Given the description of an element on the screen output the (x, y) to click on. 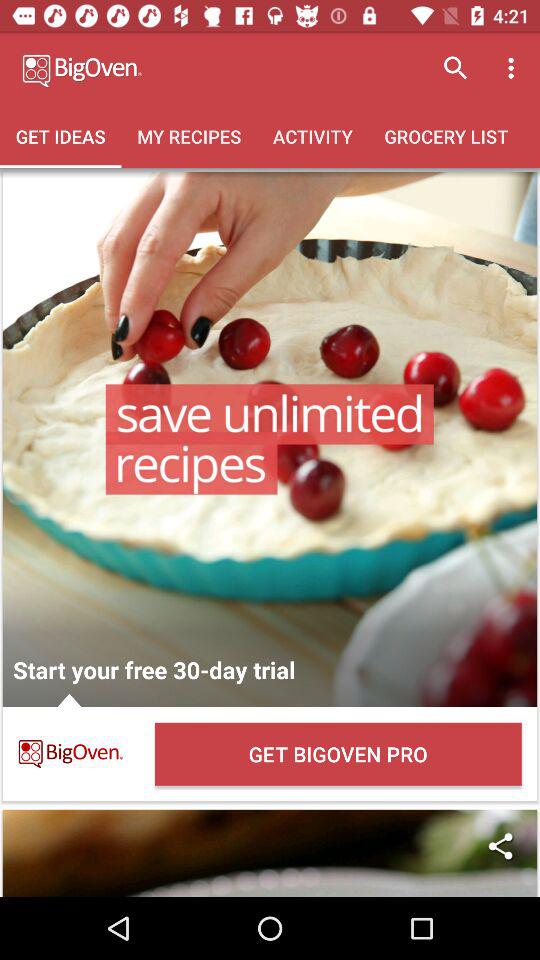
share the recipe (269, 853)
